Given the description of an element on the screen output the (x, y) to click on. 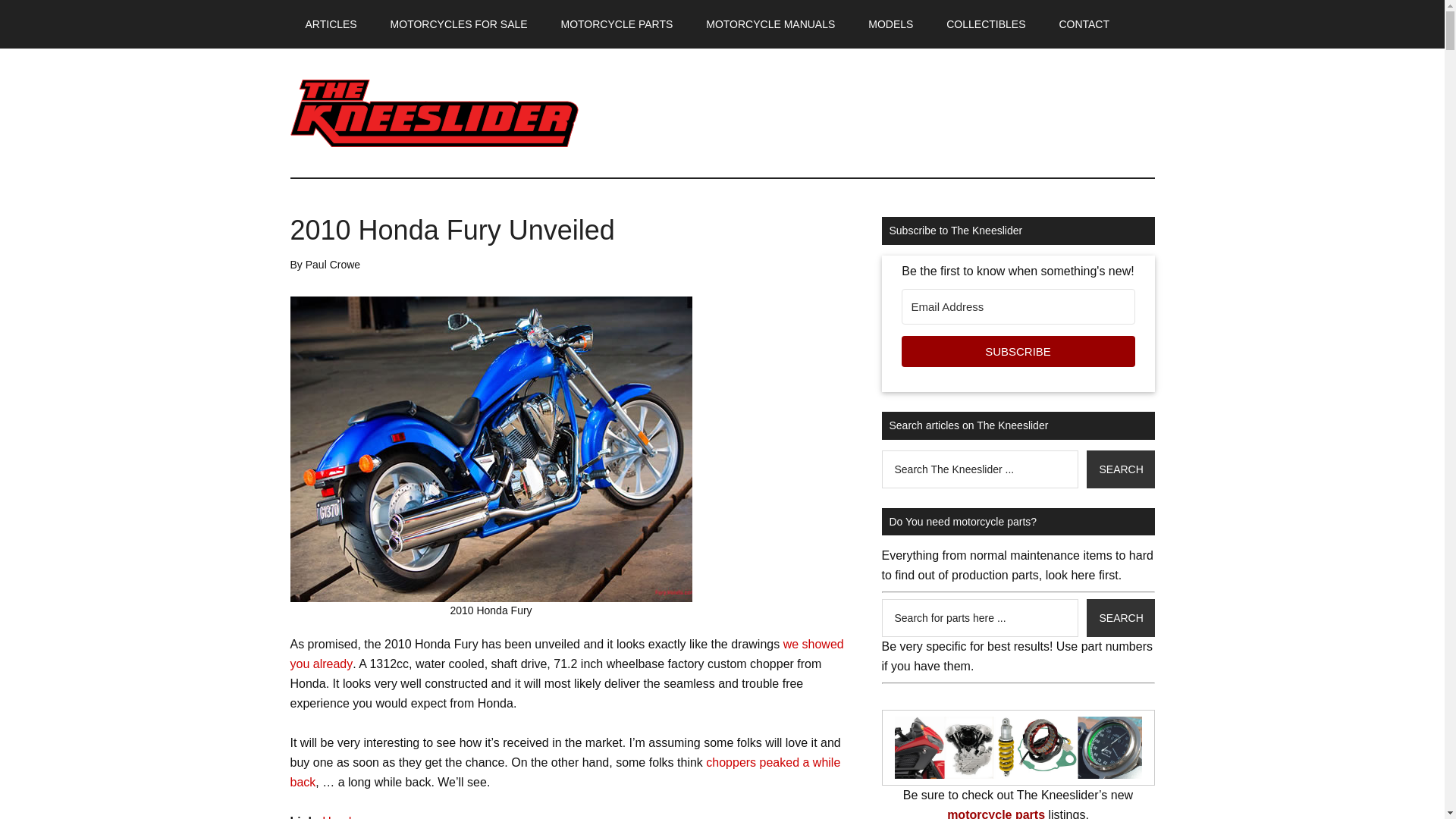
ARTICLES (330, 24)
MOTORCYCLES FOR SALE (459, 24)
Honda (339, 816)
Contact The Kneeslider (1083, 24)
The Kneeslider (433, 112)
MODELS (890, 24)
COLLECTIBLES (986, 24)
Search (1120, 617)
choppers peaked a while back (564, 771)
CONTACT (1083, 24)
MOTORCYCLE MANUALS (770, 24)
Search (1120, 469)
Search (1120, 469)
MOTORCYCLE PARTS (617, 24)
2010 Honda Fury (490, 448)
